Given the description of an element on the screen output the (x, y) to click on. 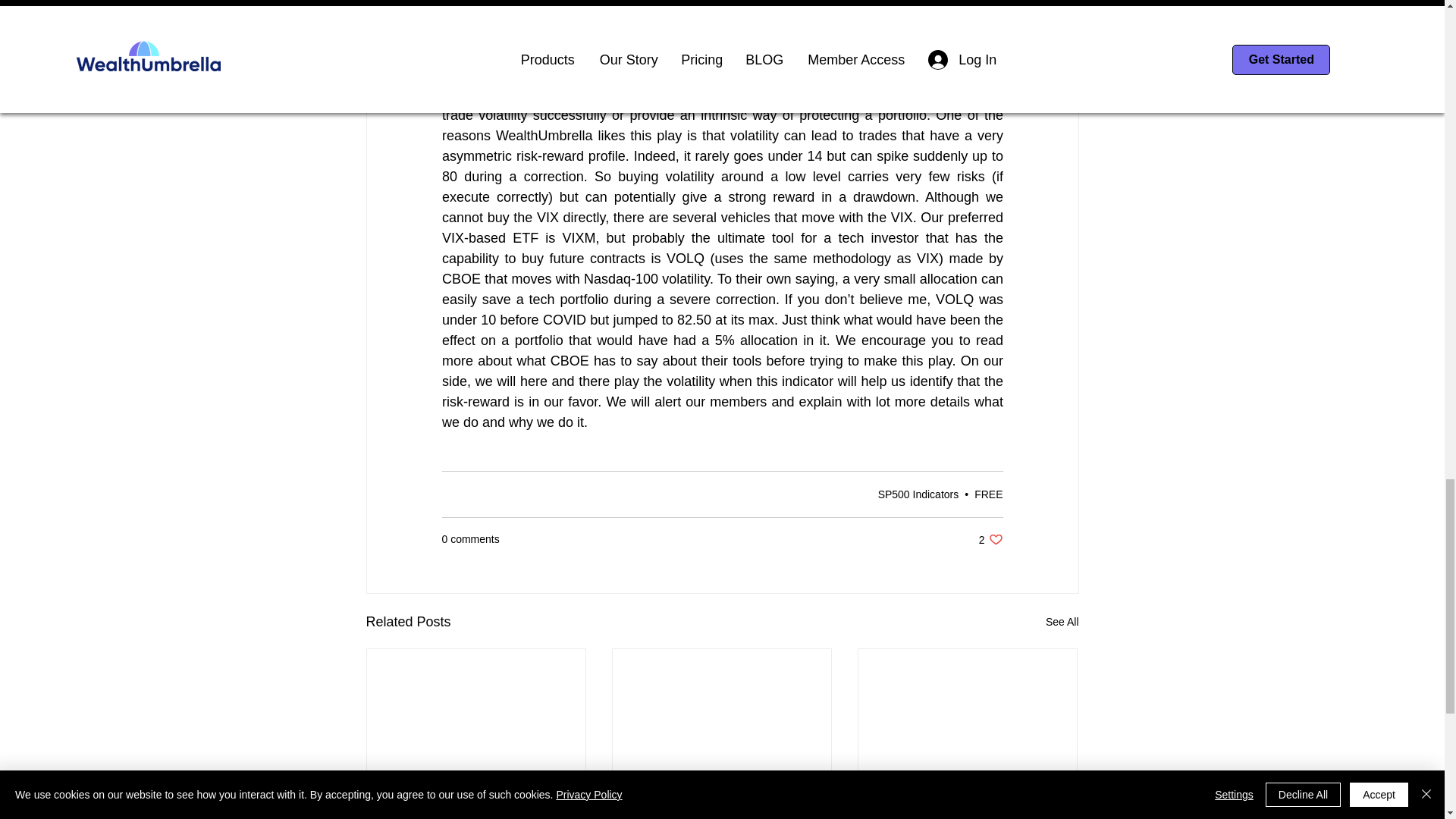
WU SP500 Bear Market Signal (990, 539)
WU SP500 BandBreaker (967, 804)
WU SP500 Margin Risk Indicator (476, 797)
SP500 Indicators (721, 804)
See All (918, 494)
FREE (1061, 621)
